Given the description of an element on the screen output the (x, y) to click on. 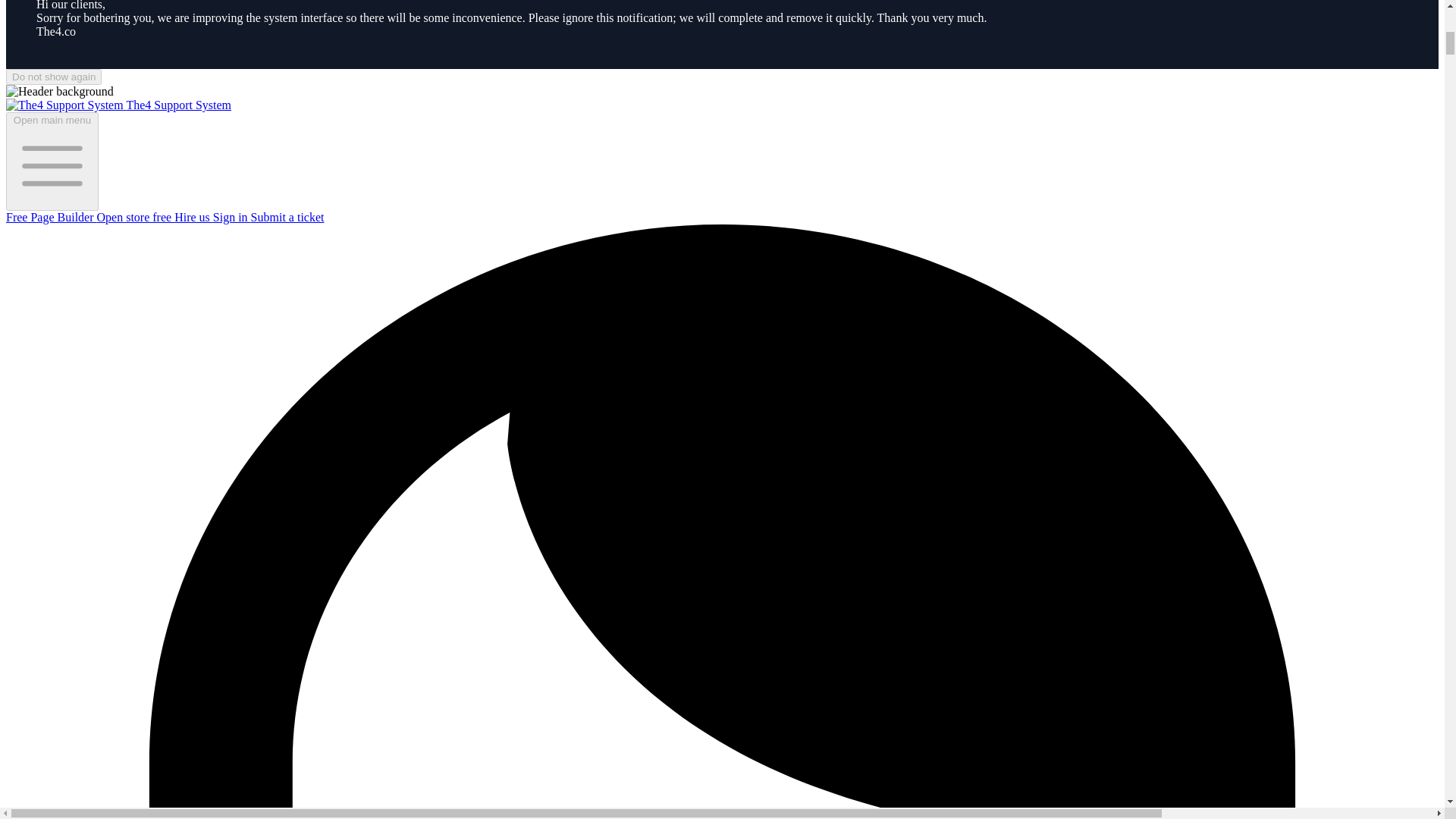
Sign in (231, 216)
Open store free (135, 216)
Open main menu (52, 161)
Free Page Builder (51, 216)
Hire us (193, 216)
Do not show again (53, 76)
The4 Support System (118, 104)
Submit a ticket (287, 216)
